Given the description of an element on the screen output the (x, y) to click on. 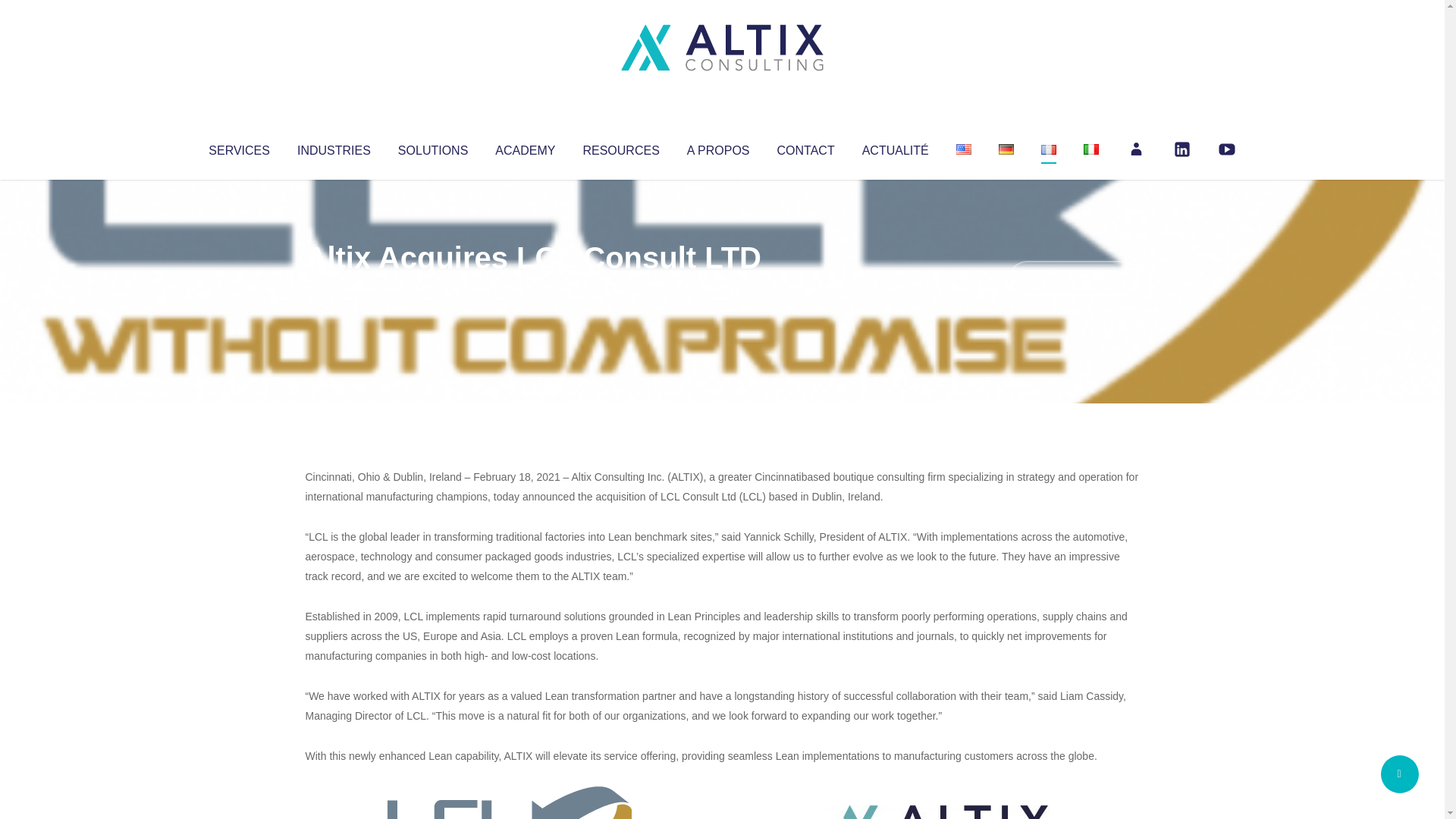
A PROPOS (718, 146)
ACADEMY (524, 146)
INDUSTRIES (334, 146)
RESOURCES (620, 146)
Altix (333, 287)
SOLUTIONS (432, 146)
Uncategorized (530, 287)
SERVICES (238, 146)
No Comments (1073, 278)
Articles par Altix (333, 287)
